Given the description of an element on the screen output the (x, y) to click on. 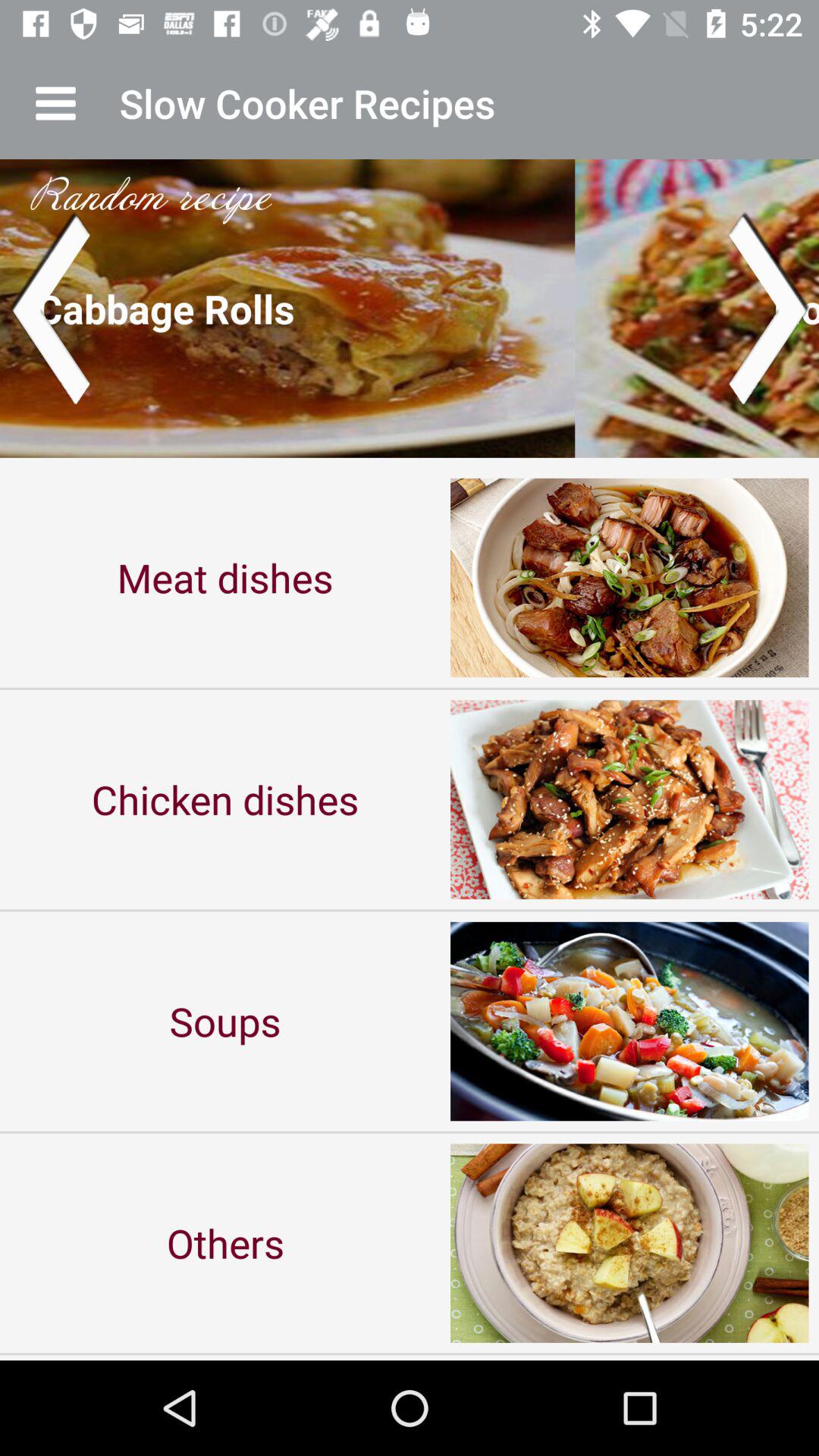
go to next image (769, 308)
